Given the description of an element on the screen output the (x, y) to click on. 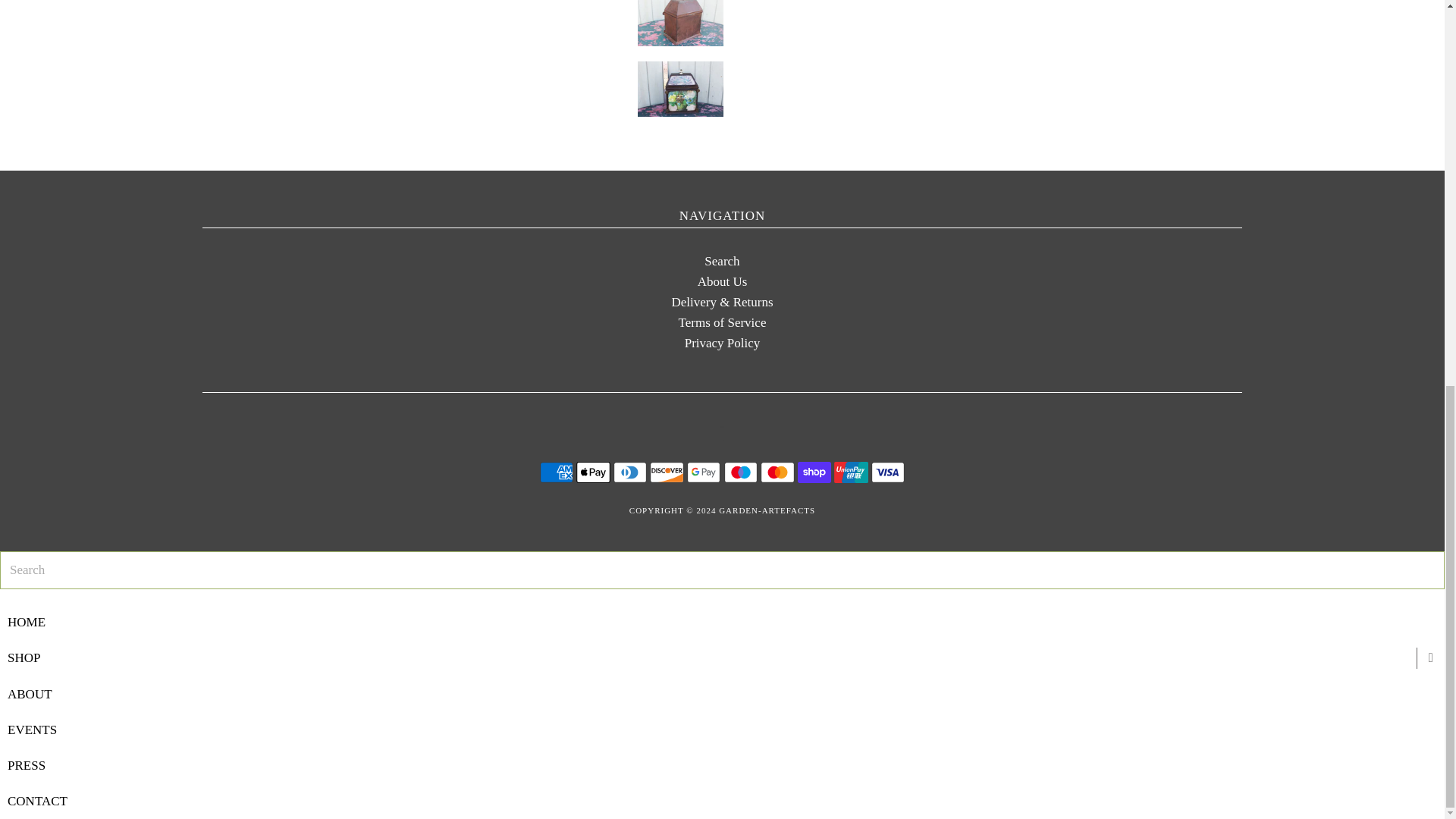
Terms of Service (722, 322)
About Us (722, 281)
Search (721, 260)
